Given the description of an element on the screen output the (x, y) to click on. 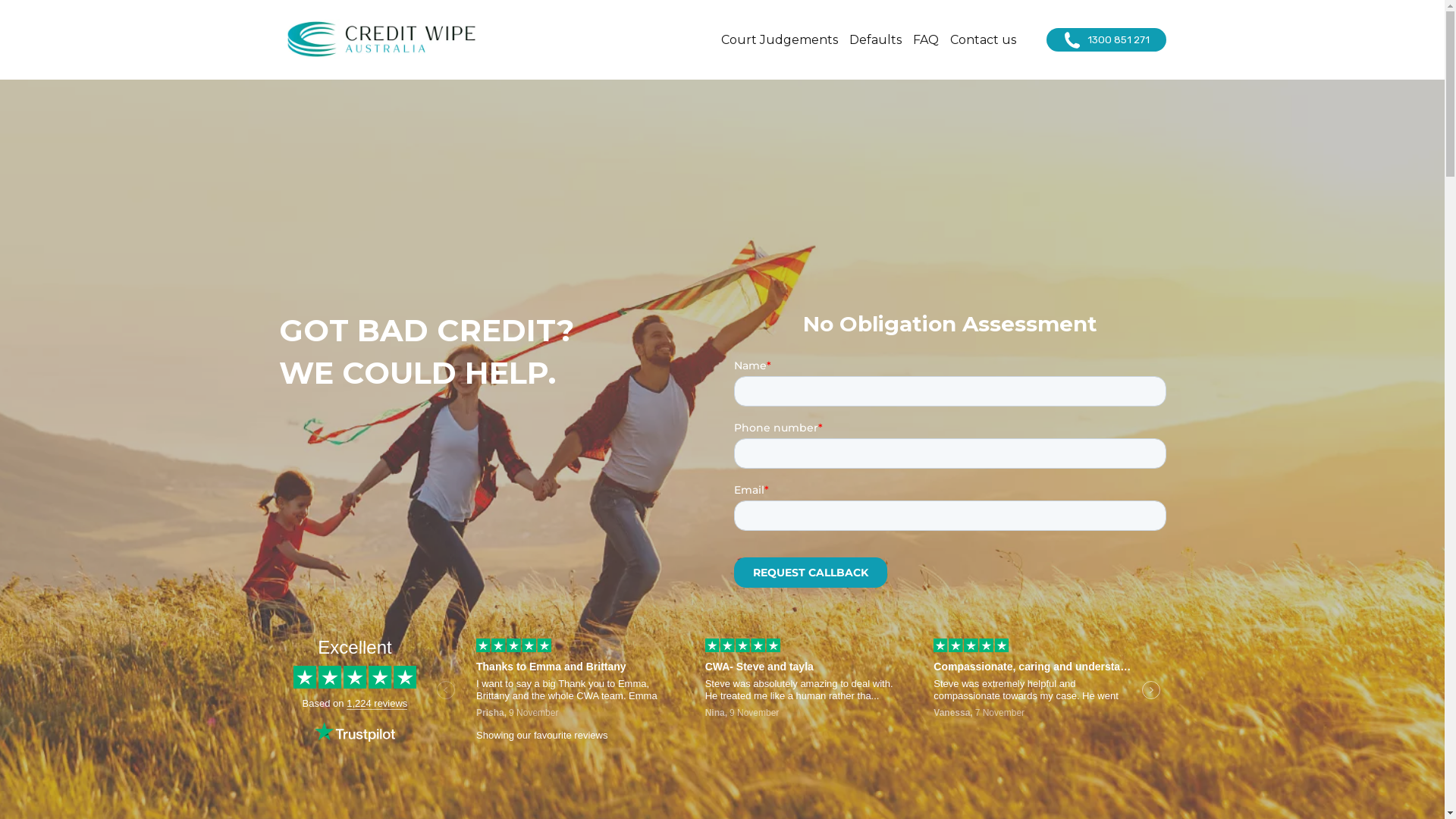
Court Judgements Element type: text (778, 39)
Form 0 Element type: hover (950, 478)
Defaults Element type: text (875, 39)
Customer reviews powered by Trustpilot Element type: hover (722, 691)
1300 851 271 Element type: text (1106, 40)
Contact us Element type: text (982, 39)
FAQ Element type: text (925, 39)
